Given the description of an element on the screen output the (x, y) to click on. 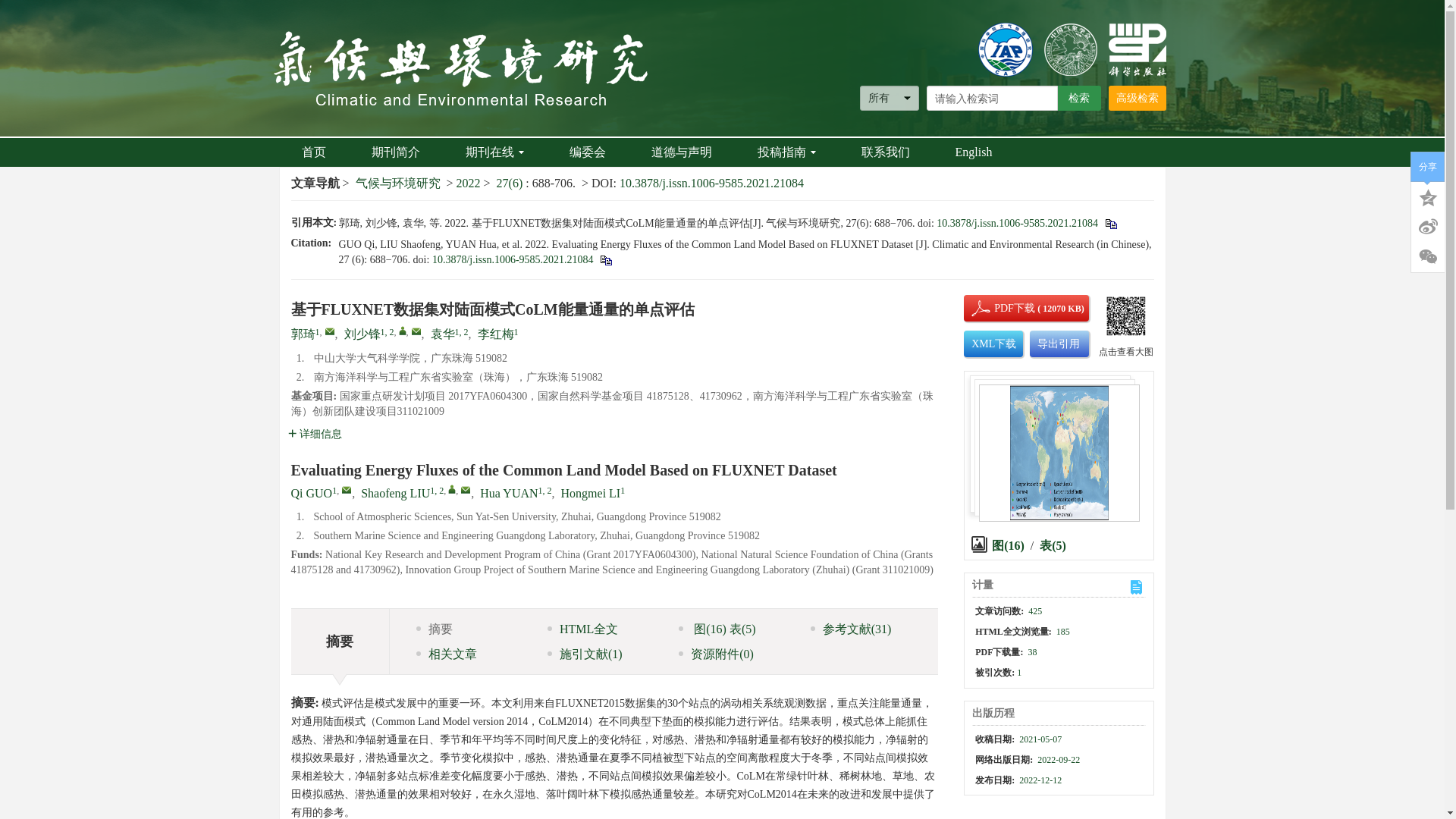
copy to clipboard (604, 259)
English (973, 152)
